Given the description of an element on the screen output the (x, y) to click on. 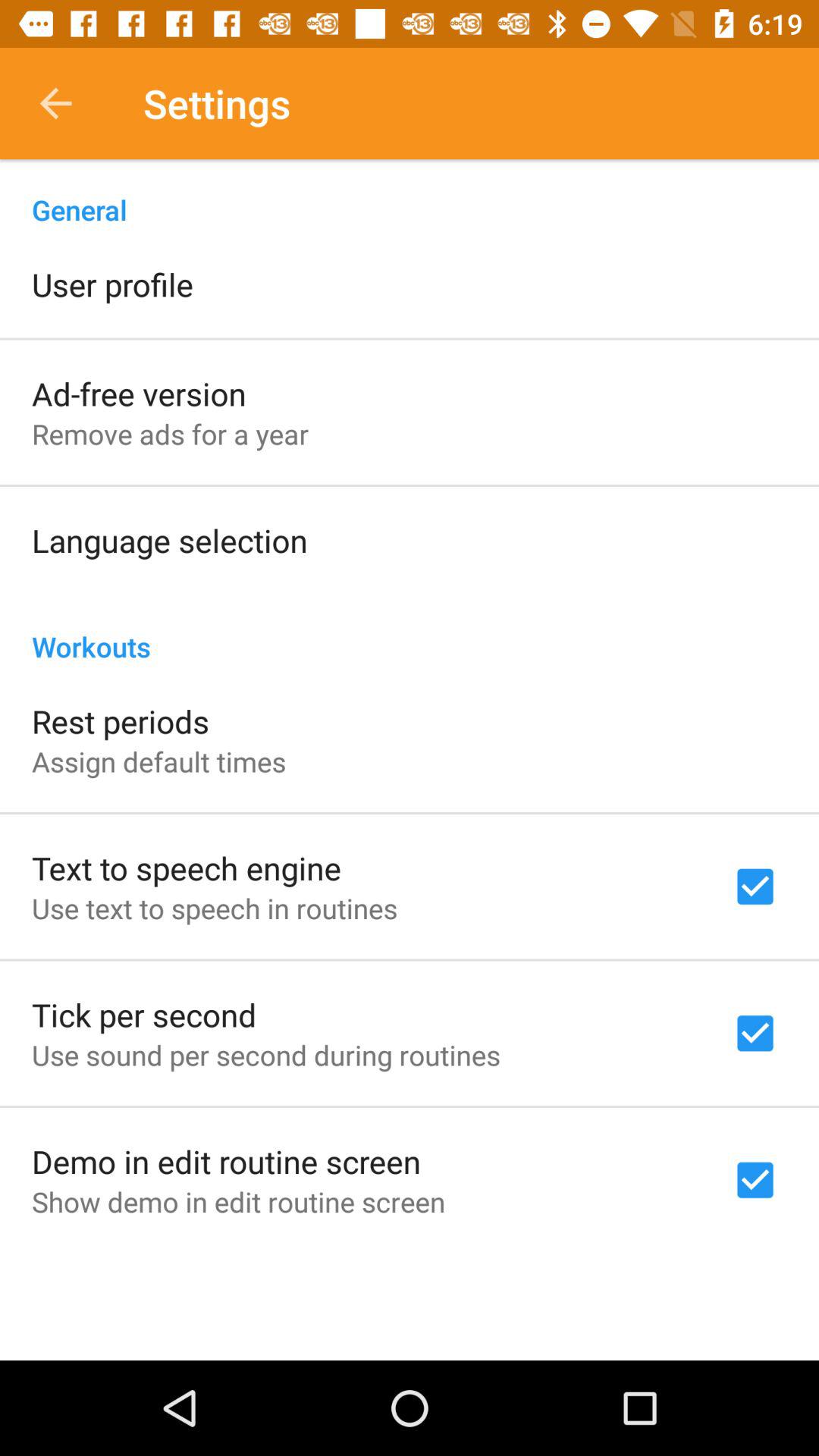
scroll until language selection (169, 539)
